Given the description of an element on the screen output the (x, y) to click on. 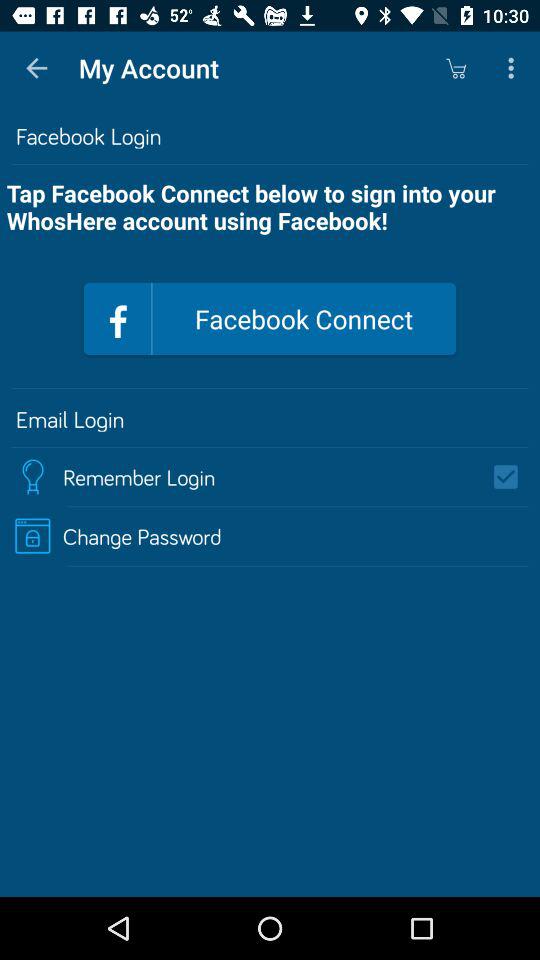
choose the item to the right of the remember login item (512, 476)
